Given the description of an element on the screen output the (x, y) to click on. 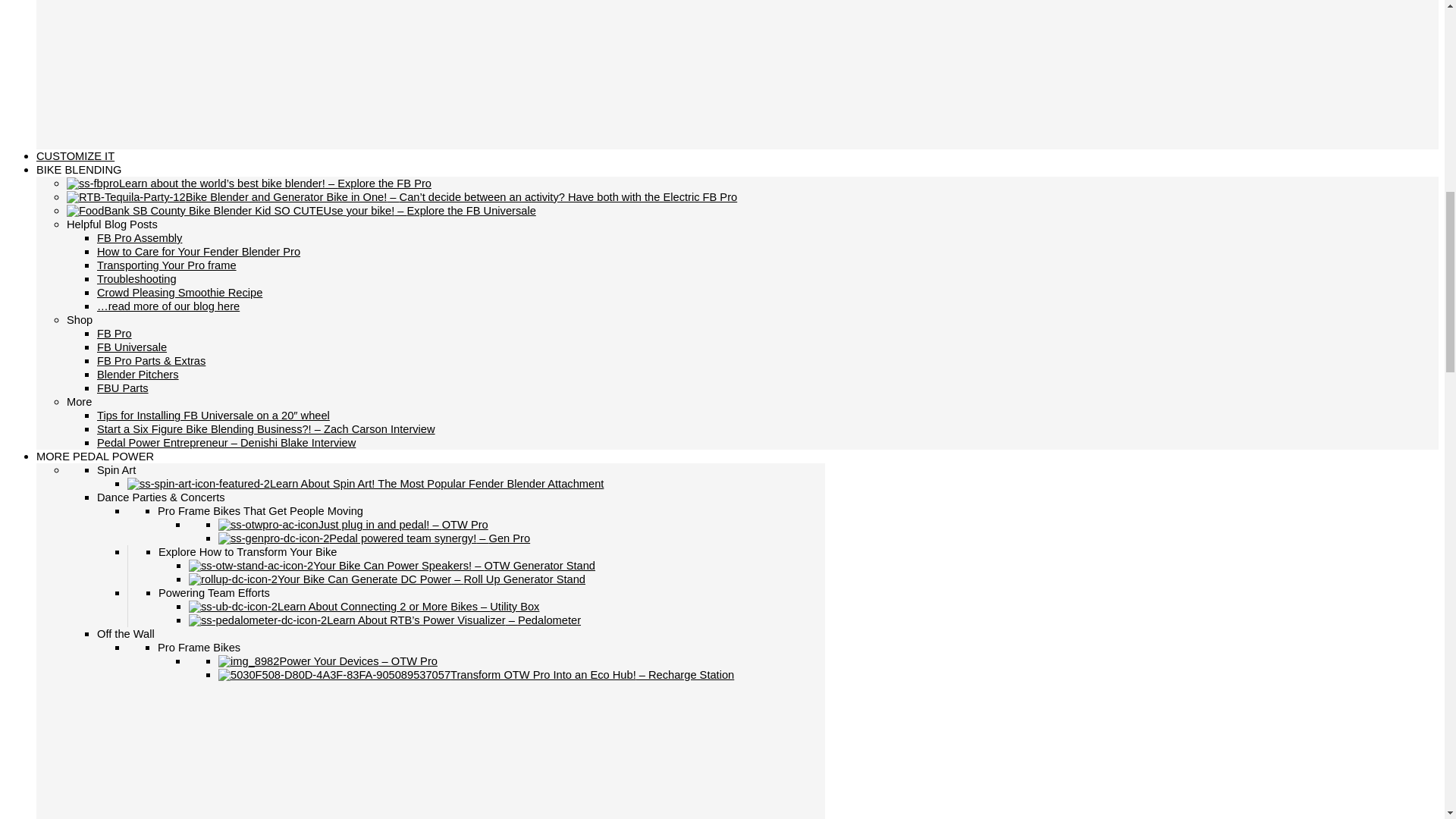
How to Care for Your Fender Blender Pro (198, 251)
Transporting Your Pro frame (166, 265)
CUSTOMIZE IT (75, 155)
Troubleshooting (136, 278)
FB Pro Assembly (139, 237)
Crowd Pleasing Smoothie Recipe (179, 292)
FB Universale (132, 346)
FB Pro (114, 333)
